Given the description of an element on the screen output the (x, y) to click on. 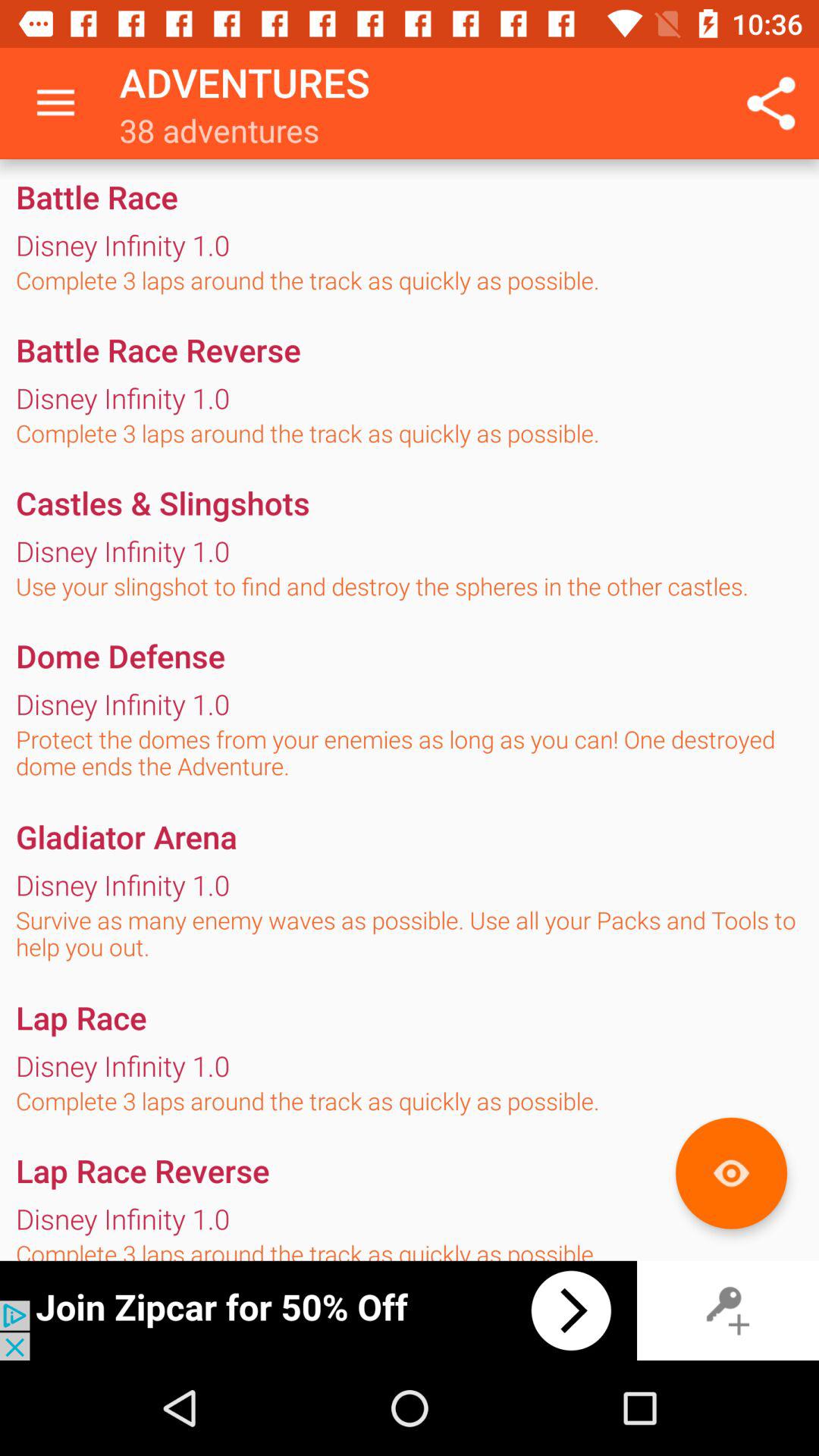
switch autoplay option (318, 1310)
